Given the description of an element on the screen output the (x, y) to click on. 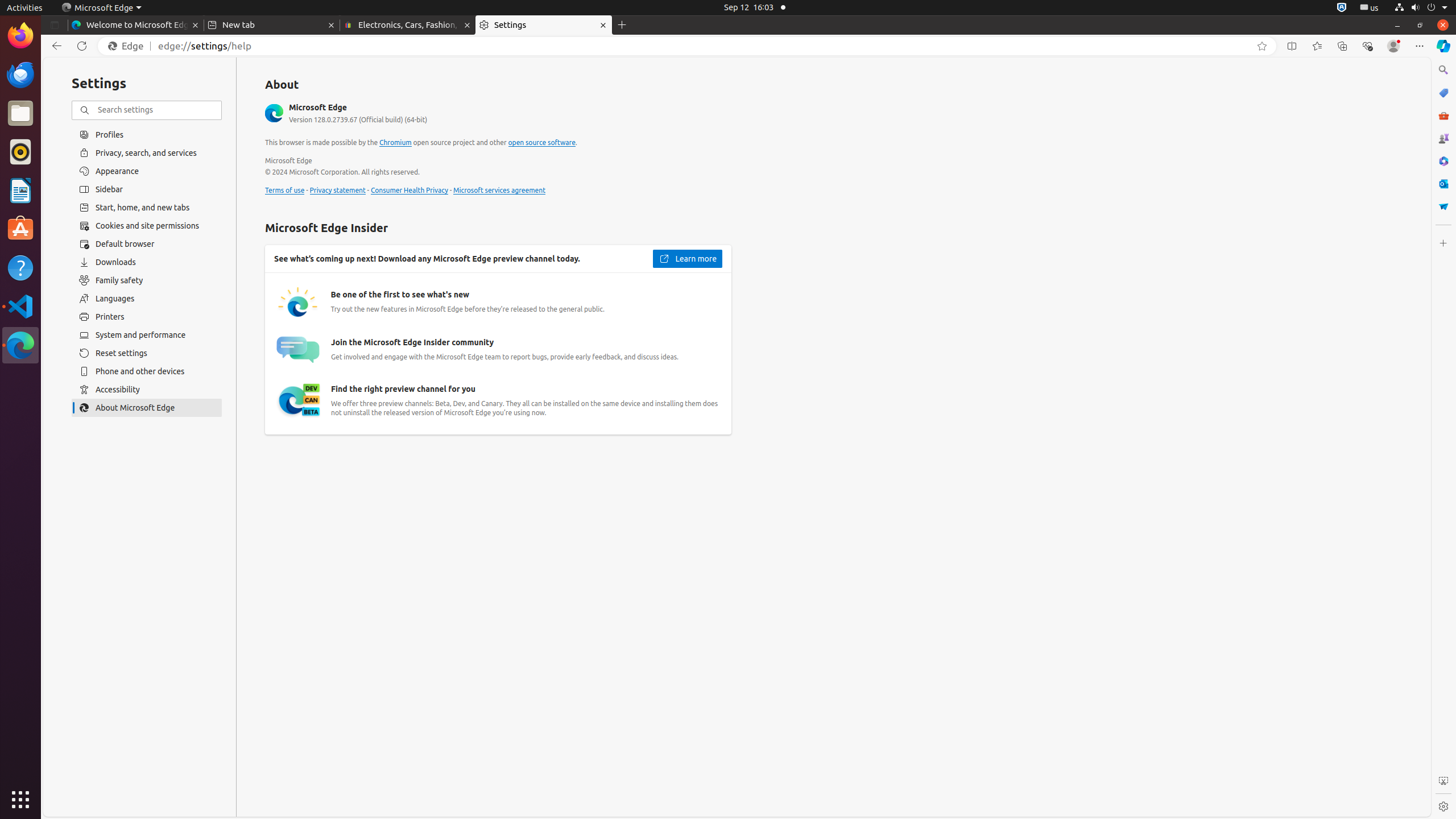
Electronics, Cars, Fashion, Collectibles & More | eBay Element type: page-tab (407, 25)
Firefox Web Browser Element type: push-button (20, 35)
Phone and other devices Element type: tree-item (146, 371)
Refresh Element type: push-button (81, 45)
Thunderbird Mail Element type: push-button (20, 74)
